Given the description of an element on the screen output the (x, y) to click on. 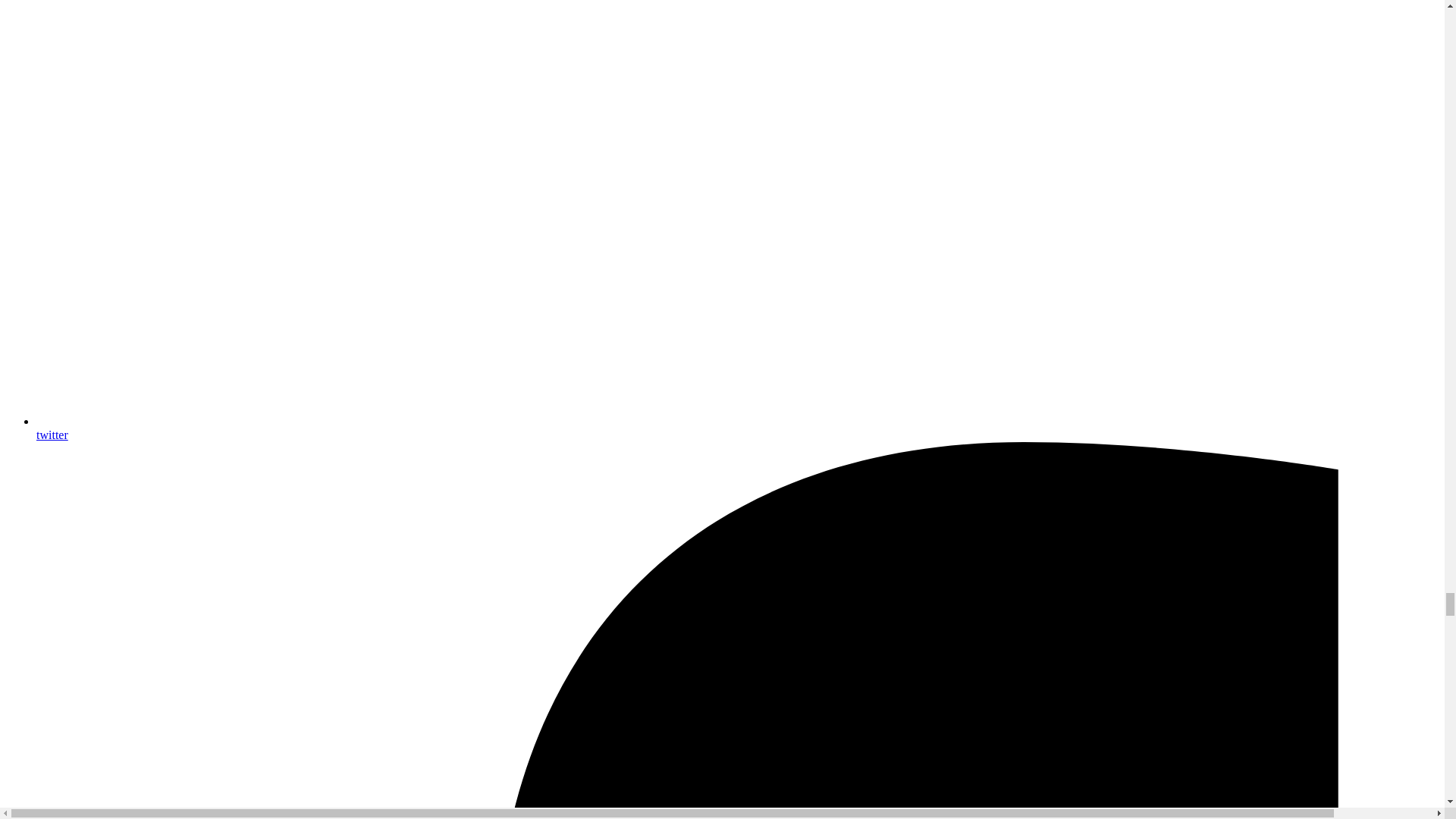
twitter (737, 427)
